Given the description of an element on the screen output the (x, y) to click on. 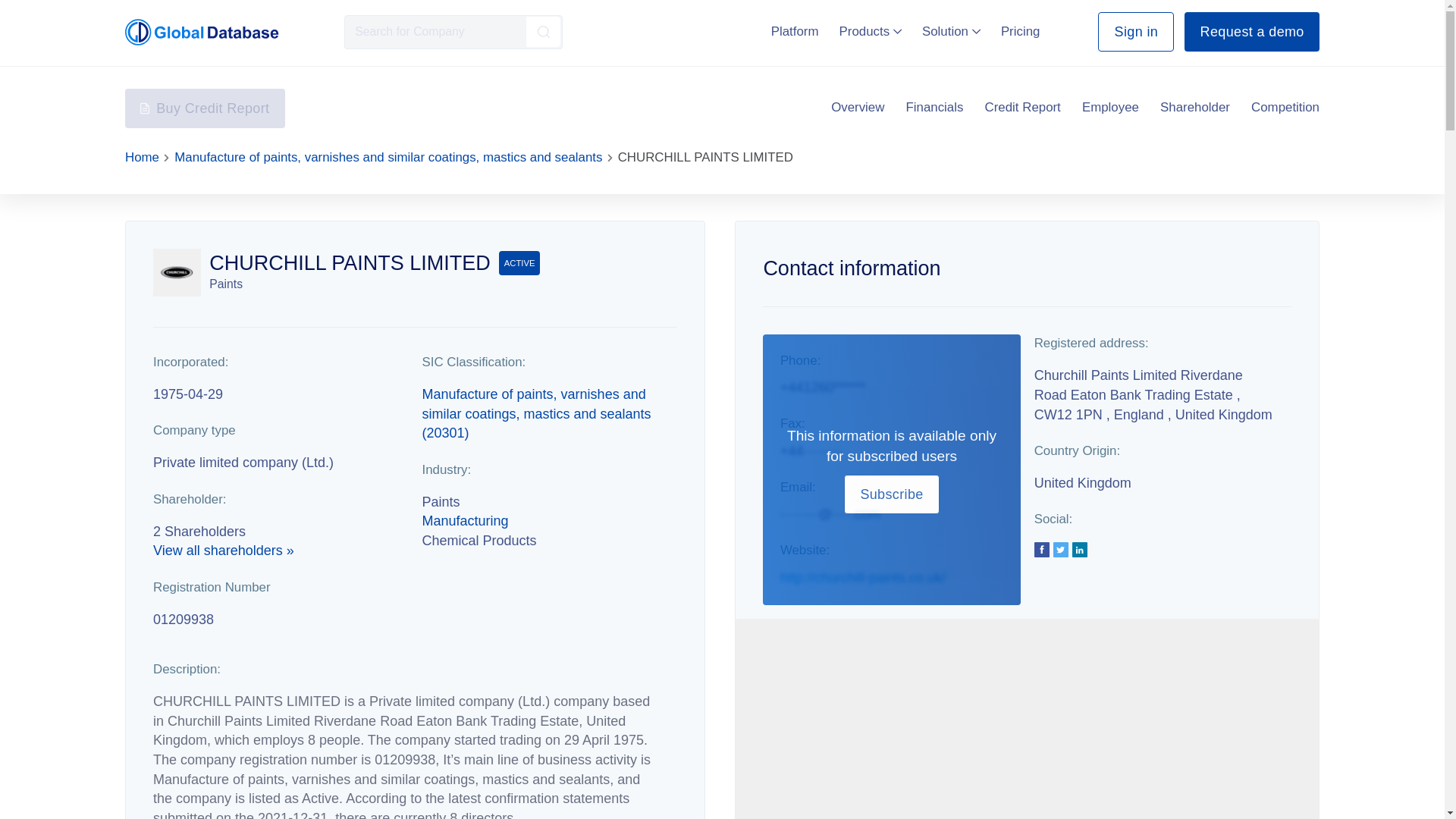
Shareholder (1195, 107)
Employee (1109, 107)
Request a demo (1252, 31)
Financials (934, 107)
Sign in (1135, 31)
Pricing (1021, 31)
Platform (794, 31)
Overview (857, 107)
Credit Report (1023, 107)
Buy Credit Report (205, 107)
